Given the description of an element on the screen output the (x, y) to click on. 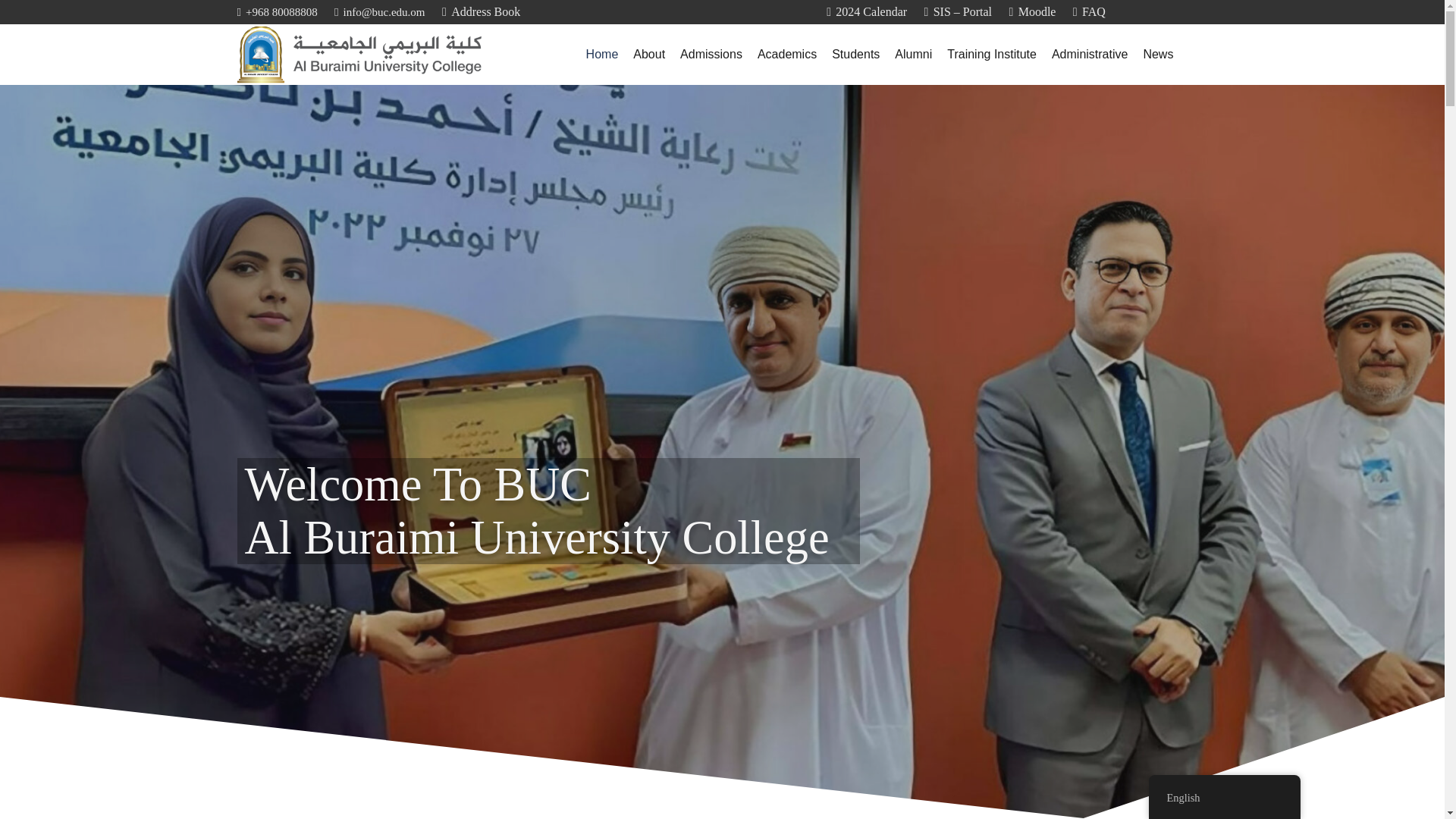
FAQ (1089, 11)
Address Book (480, 11)
2024 Calendar (867, 11)
Admissions (710, 54)
Academics (786, 54)
Moodle (1032, 11)
